Given the description of an element on the screen output the (x, y) to click on. 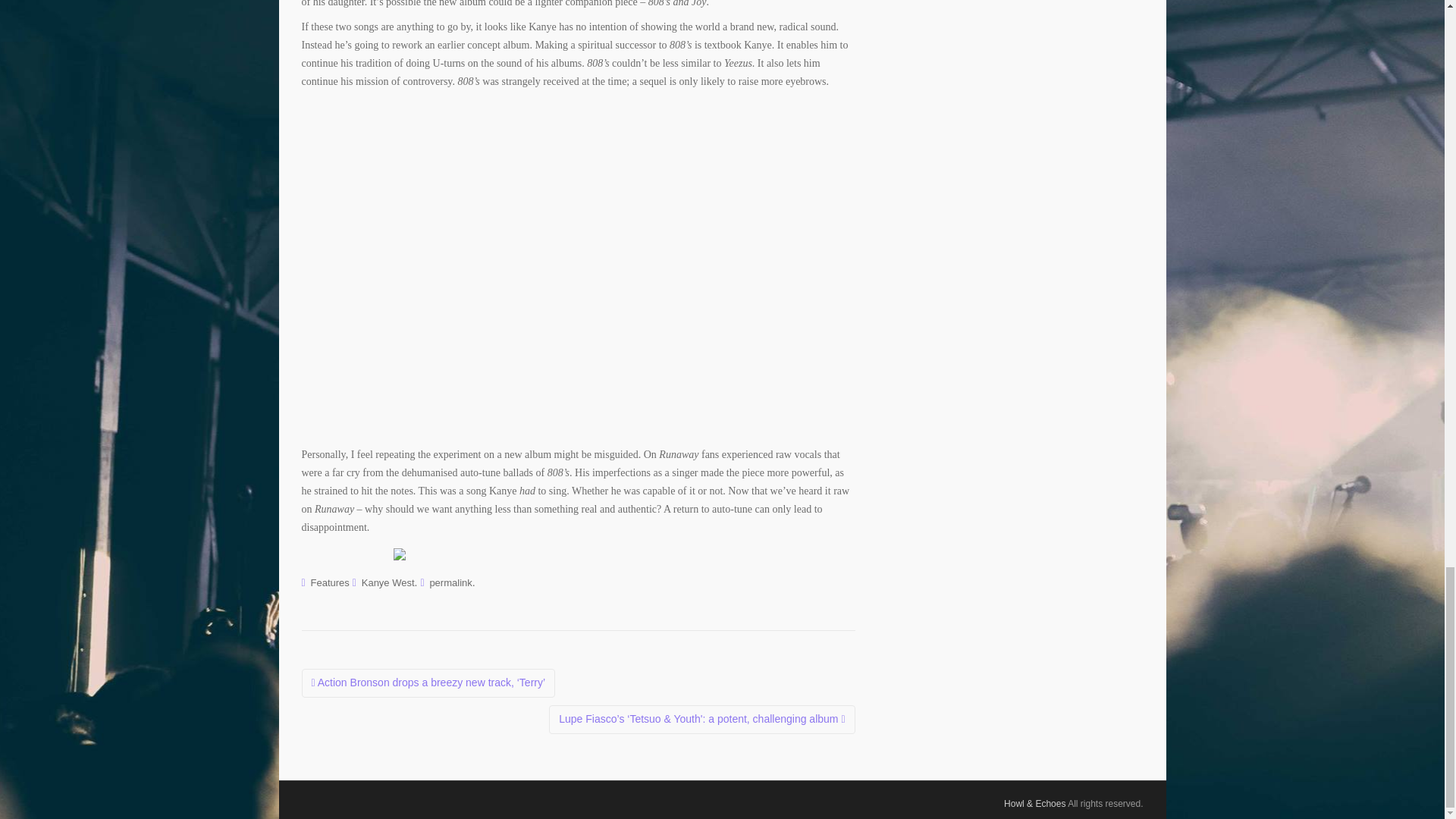
Features (330, 582)
